Given the description of an element on the screen output the (x, y) to click on. 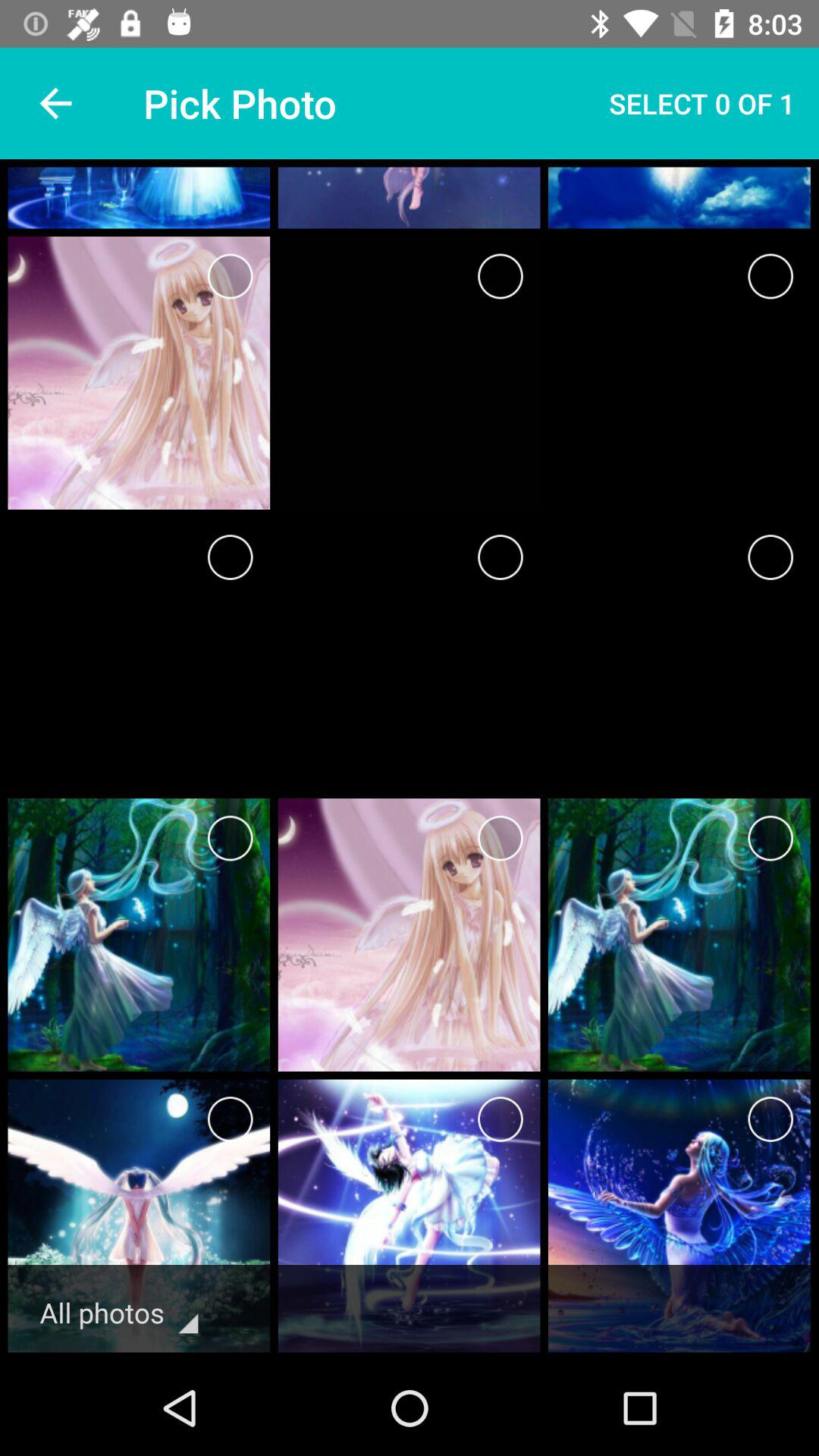
select button (500, 276)
